Given the description of an element on the screen output the (x, y) to click on. 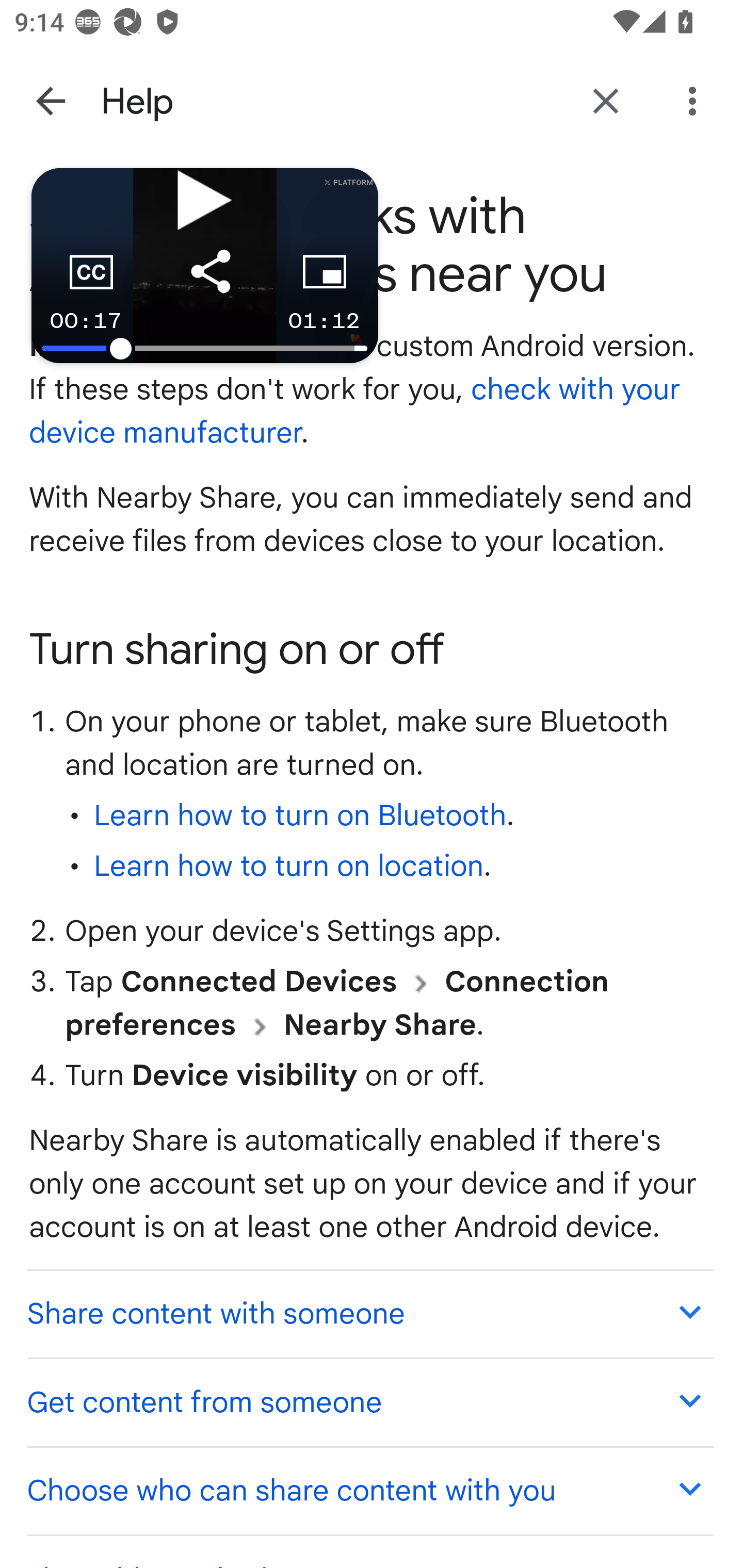
Navigate up (50, 101)
Return to Google Play services (605, 101)
More options (696, 101)
check with your device manufacturer (355, 411)
Learn how to turn on Bluetooth (300, 816)
Learn how to turn on location (288, 866)
Share content with someone (369, 1311)
Get content from someone (369, 1402)
Choose who can share content with you (369, 1490)
